Given the description of an element on the screen output the (x, y) to click on. 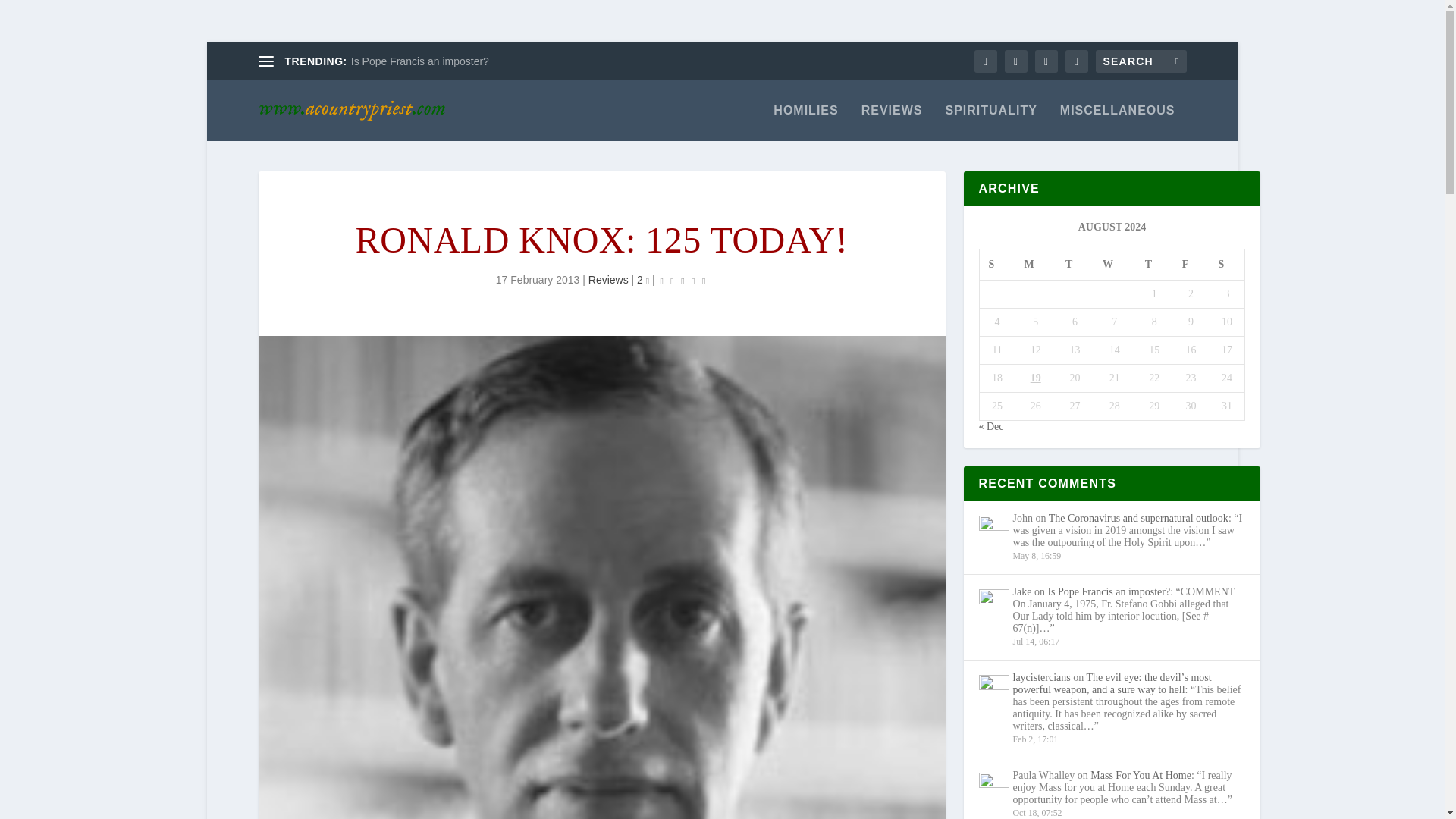
REVIEWS (892, 122)
SPIRITUALITY (990, 122)
HOMILIES (805, 122)
Is Pope Francis an imposter? (419, 61)
2 (643, 279)
Rating: 0.00 (682, 280)
Reviews (608, 279)
